Given the description of an element on the screen output the (x, y) to click on. 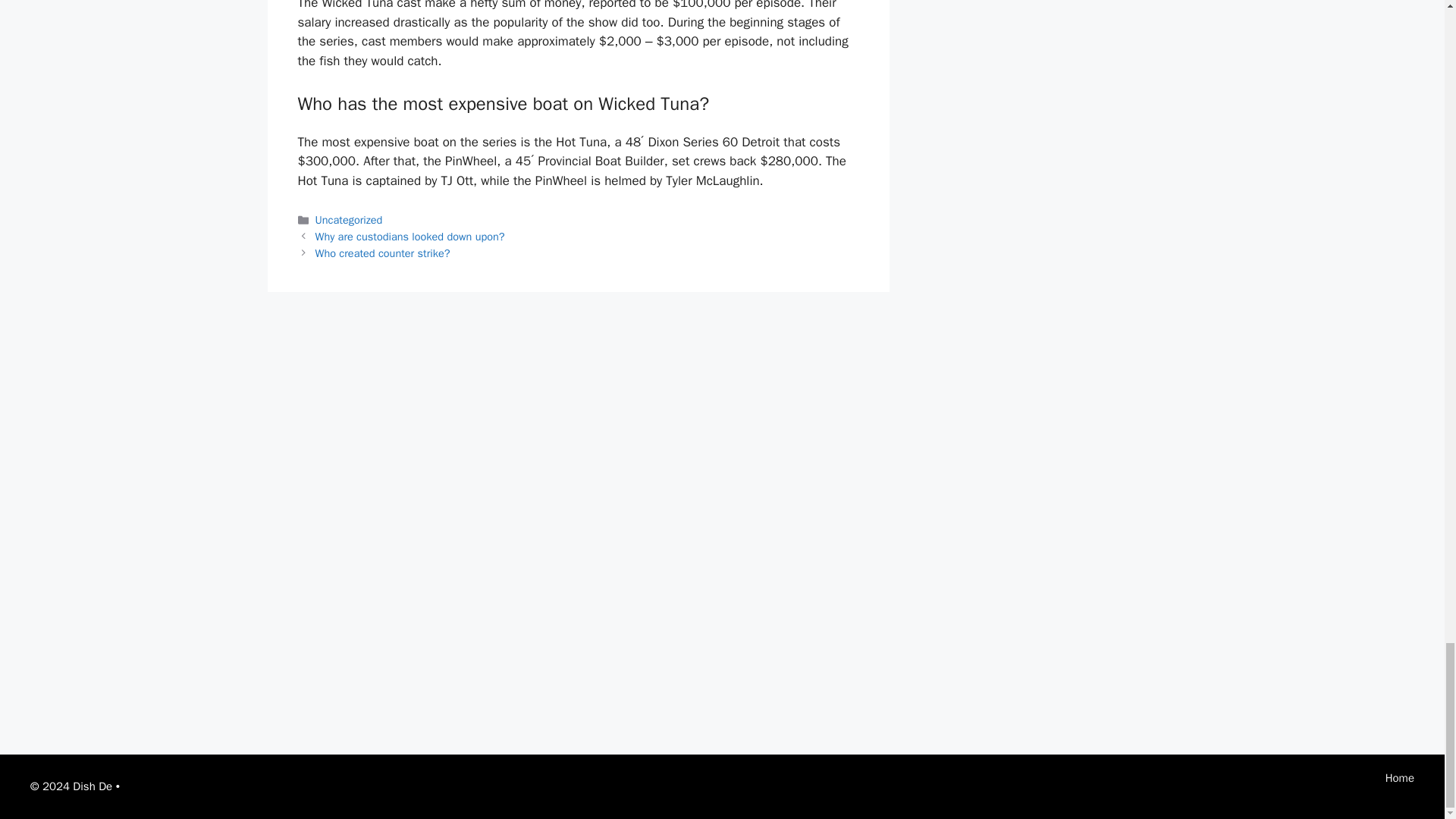
Why are custodians looked down upon? (410, 236)
Home (1399, 777)
Uncategorized (348, 219)
Previous (410, 236)
Who created counter strike? (382, 253)
Next (382, 253)
